Given the description of an element on the screen output the (x, y) to click on. 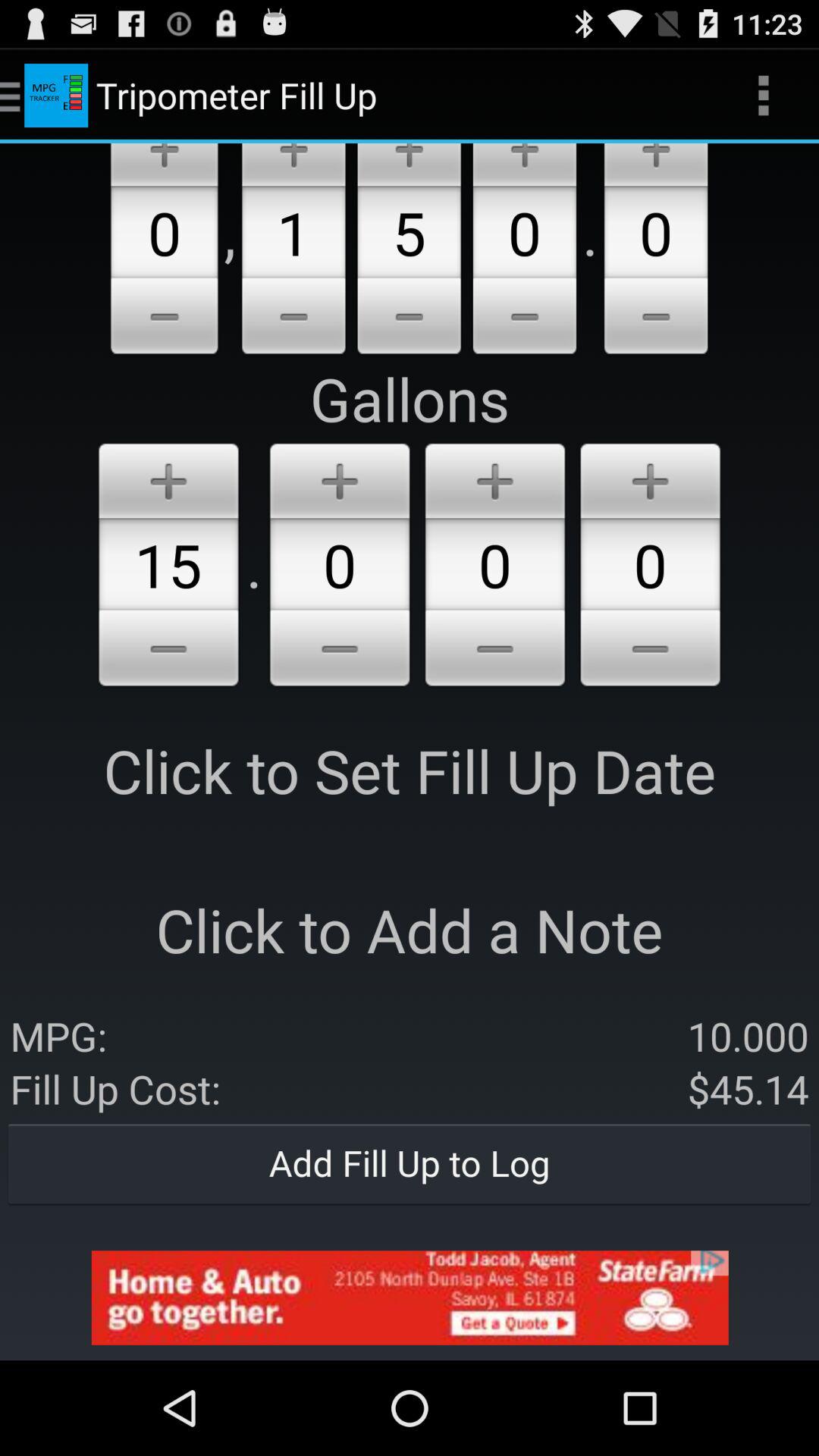
subtract number (408, 318)
